Given the description of an element on the screen output the (x, y) to click on. 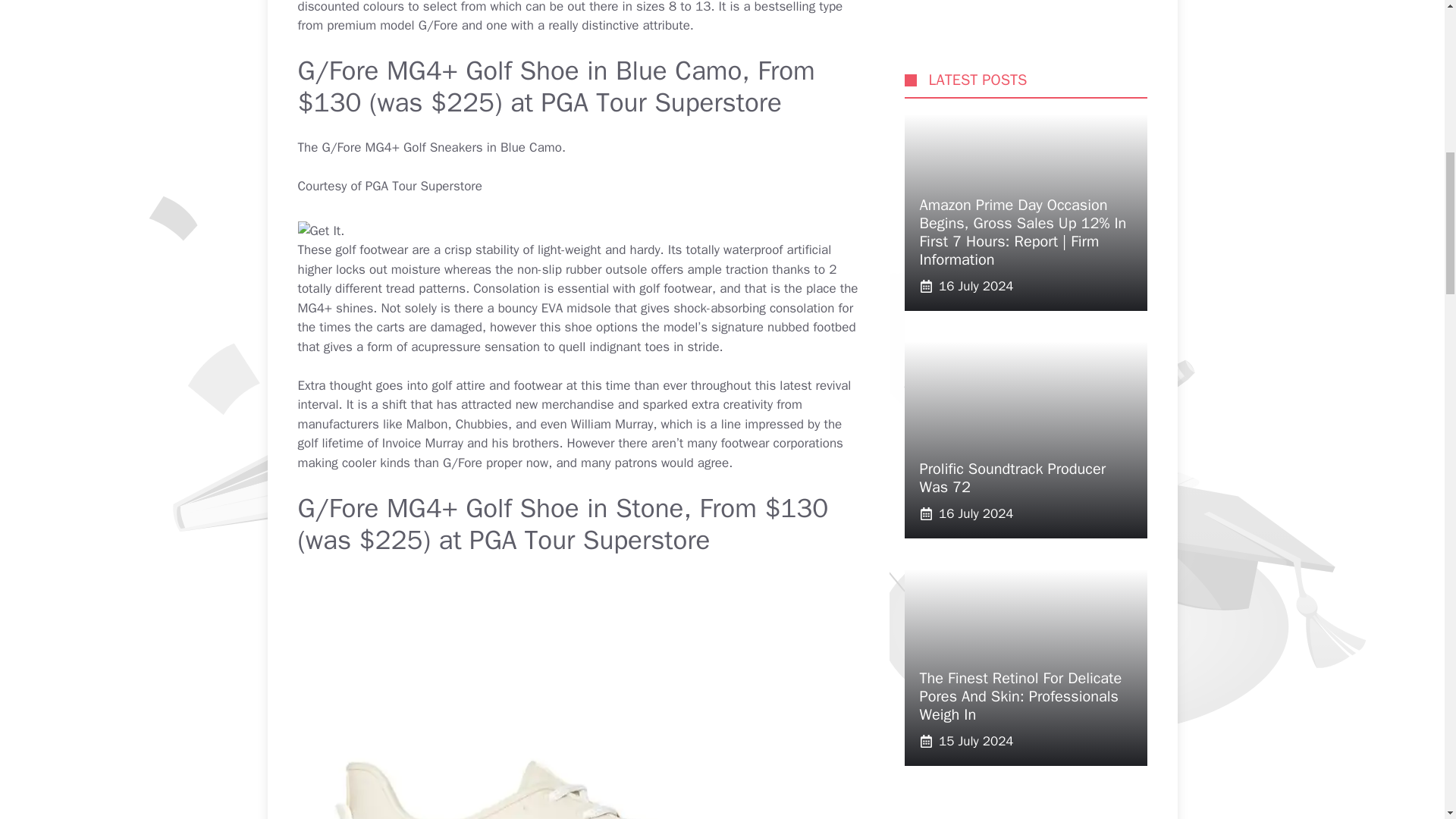
Chubbies (481, 424)
Courtesy of PGA Tour Superstore (389, 186)
William Murray (611, 424)
Scroll back to top (1406, 720)
PGA Tour Superstore (589, 539)
Malbon (427, 424)
PGA Tour Superstore (661, 101)
